Given the description of an element on the screen output the (x, y) to click on. 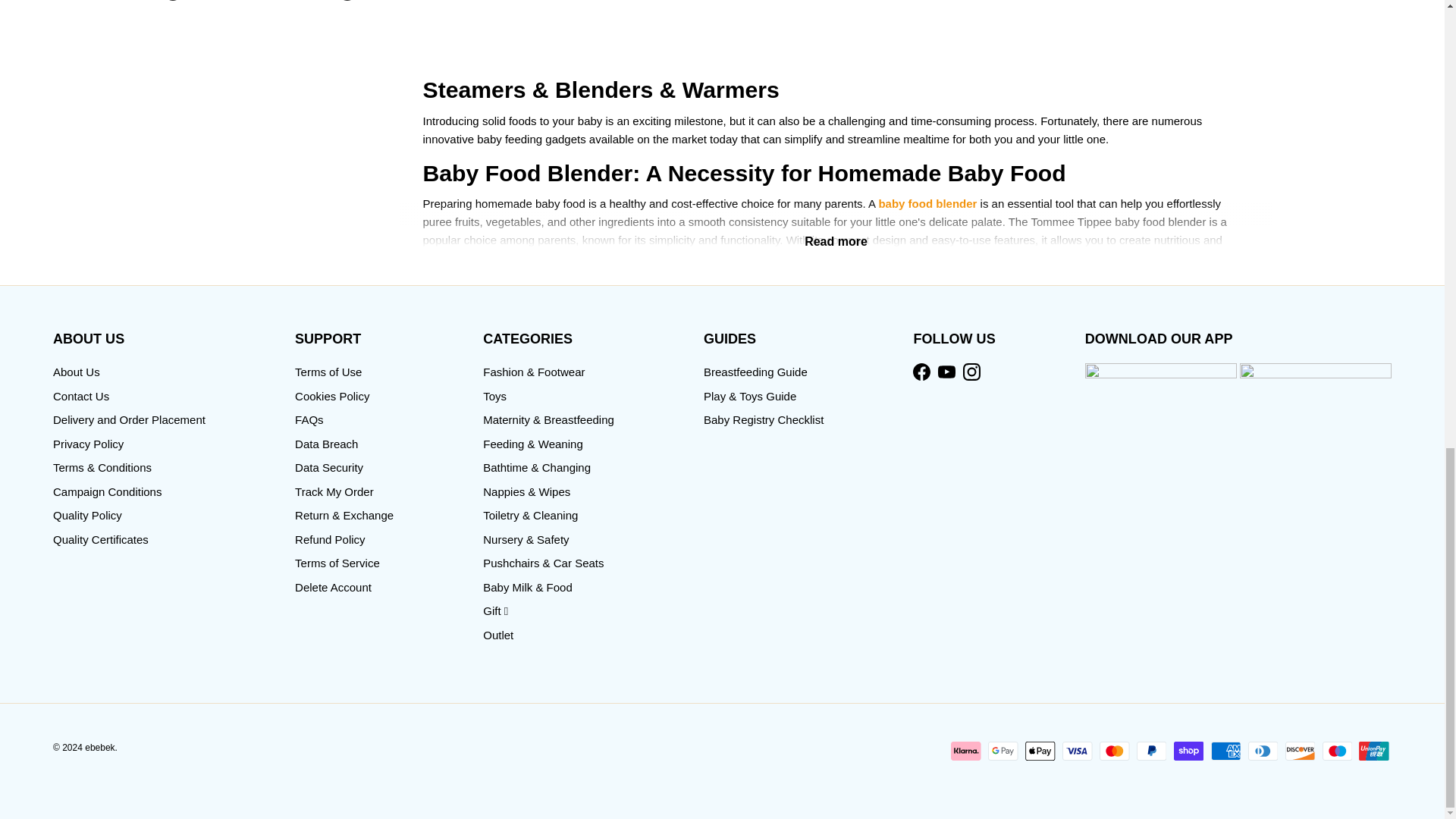
Visa (1077, 751)
Mastercard (1114, 751)
Apple Pay (1040, 751)
ebebek on Facebook (921, 371)
ebebek on YouTube (946, 371)
Google Pay (1002, 751)
Klarna (965, 751)
ebebek on Instagram (970, 371)
